Given the description of an element on the screen output the (x, y) to click on. 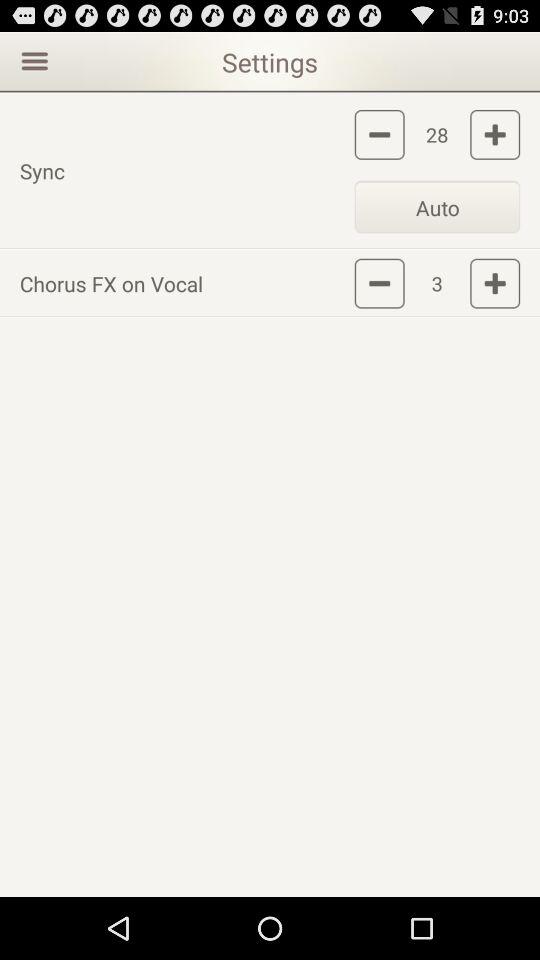
increase number (495, 283)
